Given the description of an element on the screen output the (x, y) to click on. 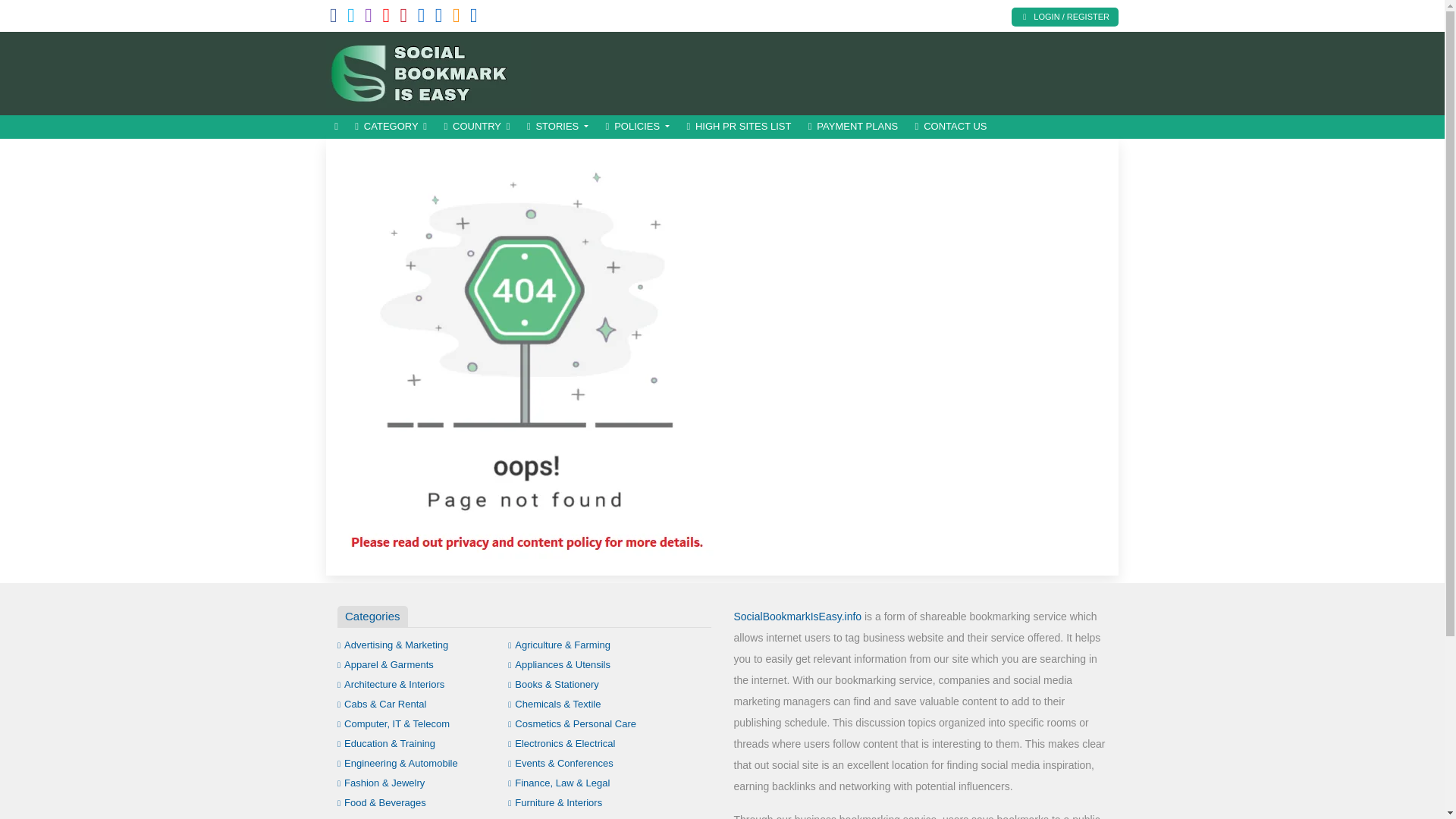
CATEGORY (390, 126)
